Given the description of an element on the screen output the (x, y) to click on. 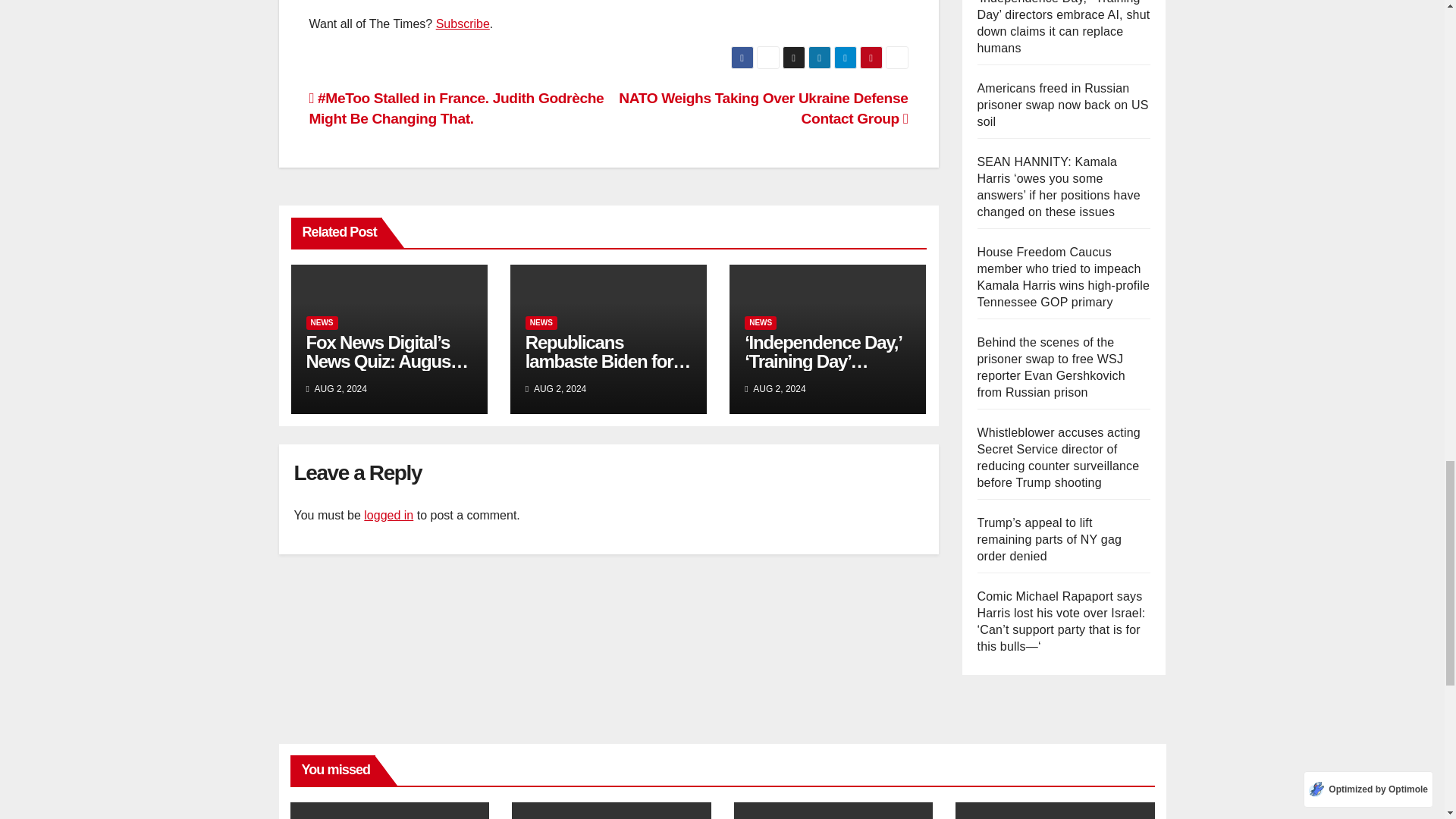
NATO Weighs Taking Over Ukraine Defense Contact Group (762, 108)
Subscribe (462, 23)
NEWS (760, 323)
NEWS (541, 323)
NEWS (321, 323)
